Given the description of an element on the screen output the (x, y) to click on. 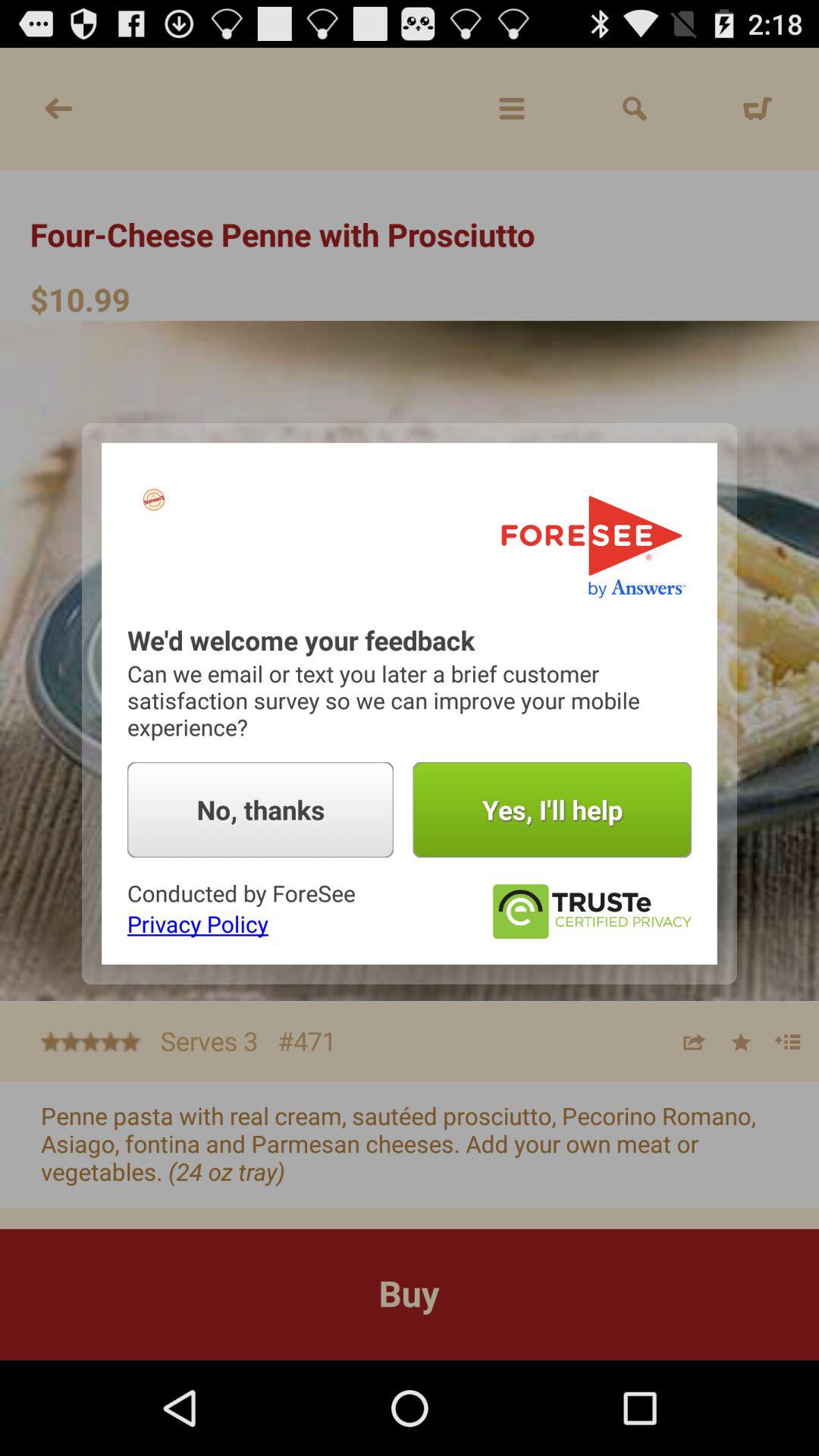
select no, thanks (260, 809)
